Given the description of an element on the screen output the (x, y) to click on. 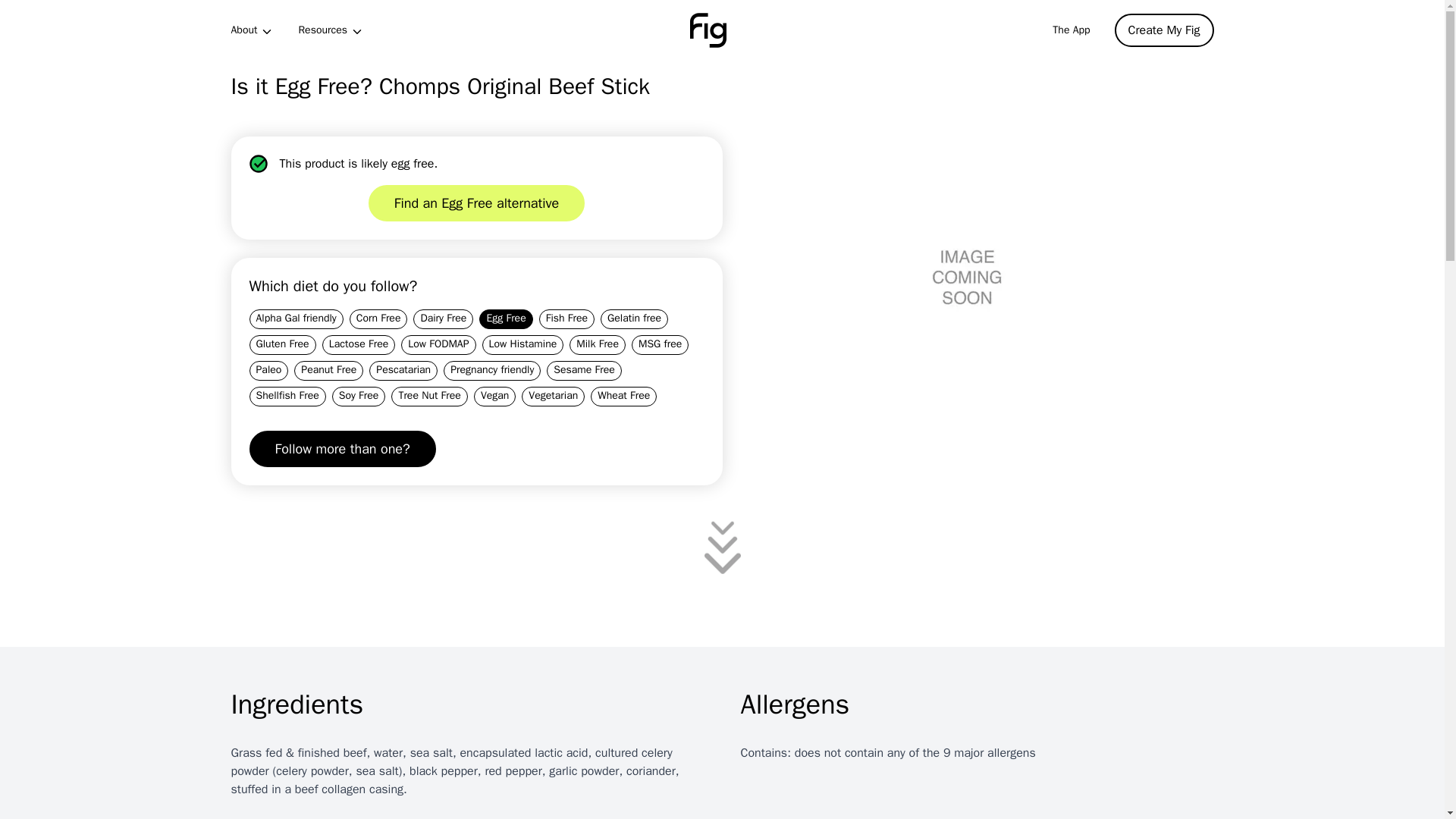
Sesame Free (584, 370)
Create My Fig (1164, 29)
Gelatin free (633, 319)
Pregnancy friendly (492, 370)
About (251, 29)
Paleo (268, 370)
MSG free (659, 344)
Egg Free (505, 319)
Low Histamine (522, 344)
Alpha Gal friendly (295, 319)
Lactose Free (358, 344)
Dairy Free (443, 319)
Gluten Free (281, 344)
Corn Free (378, 319)
Low FODMAP (438, 344)
